Given the description of an element on the screen output the (x, y) to click on. 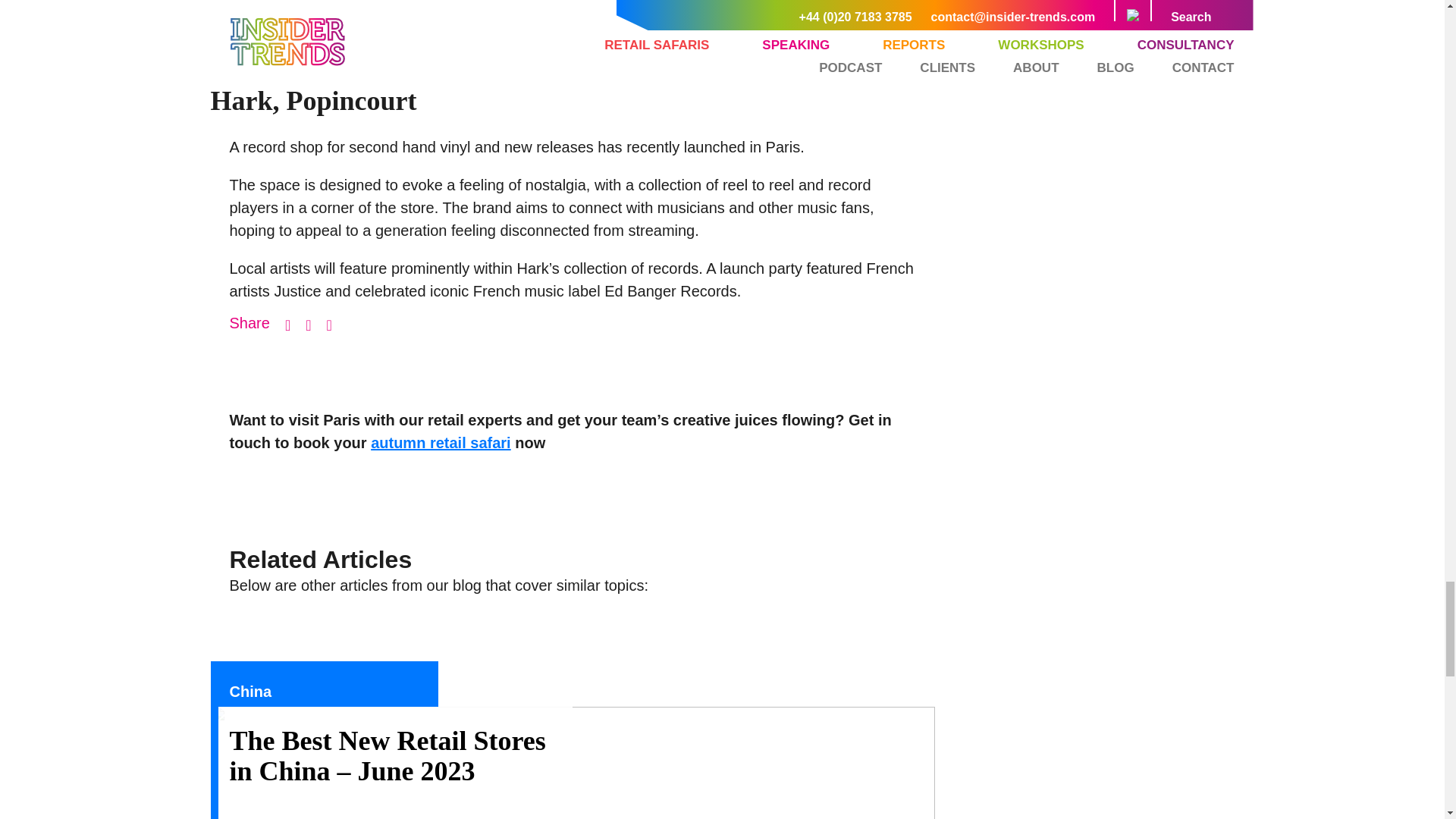
autumn retail safari (441, 442)
